Given the description of an element on the screen output the (x, y) to click on. 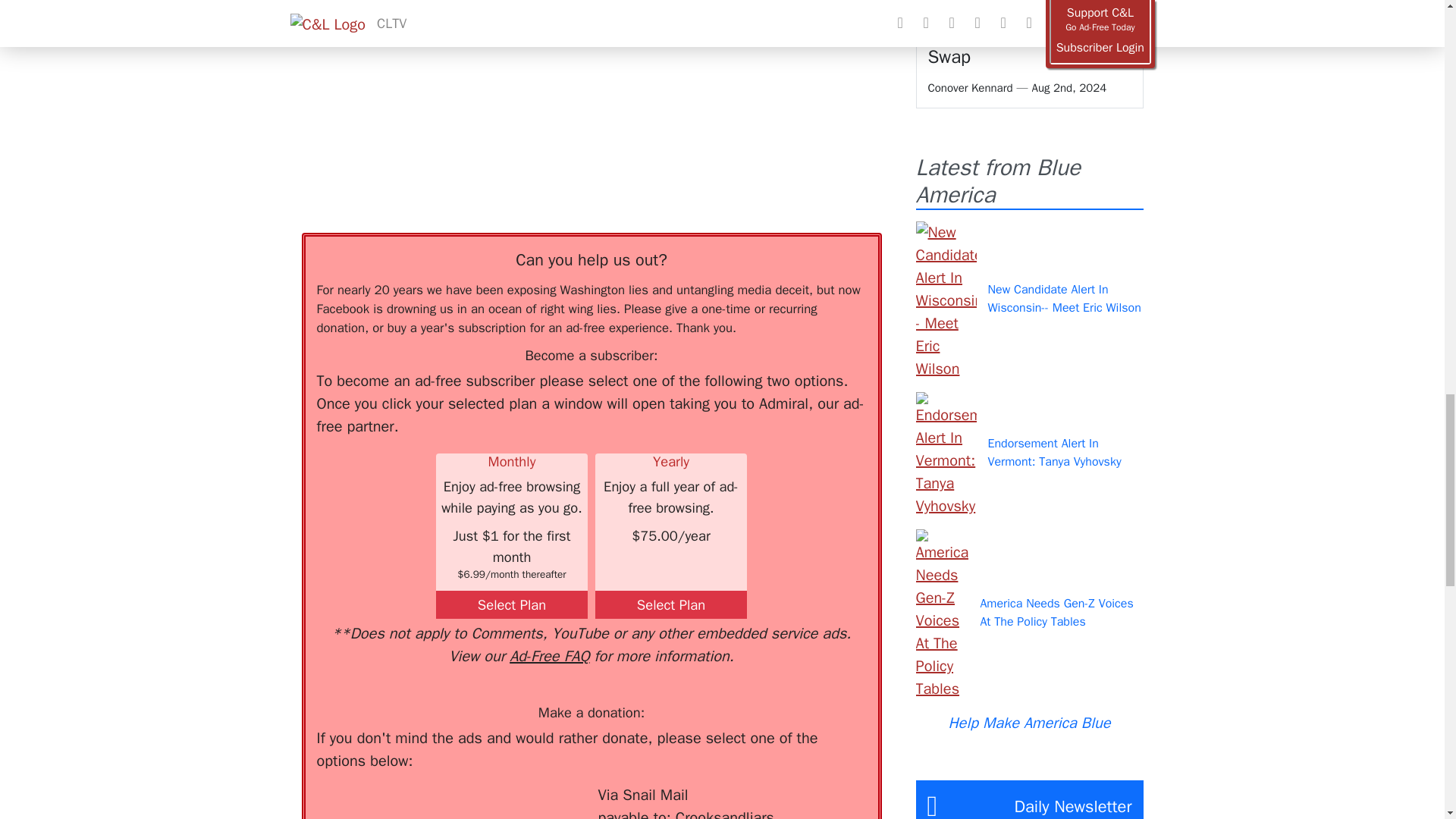
Donate via Kindest (438, 801)
Donate via PayPal (540, 801)
Kindest (438, 801)
Donate via PayPal (540, 801)
Ad-Free FAQ (549, 656)
